Given the description of an element on the screen output the (x, y) to click on. 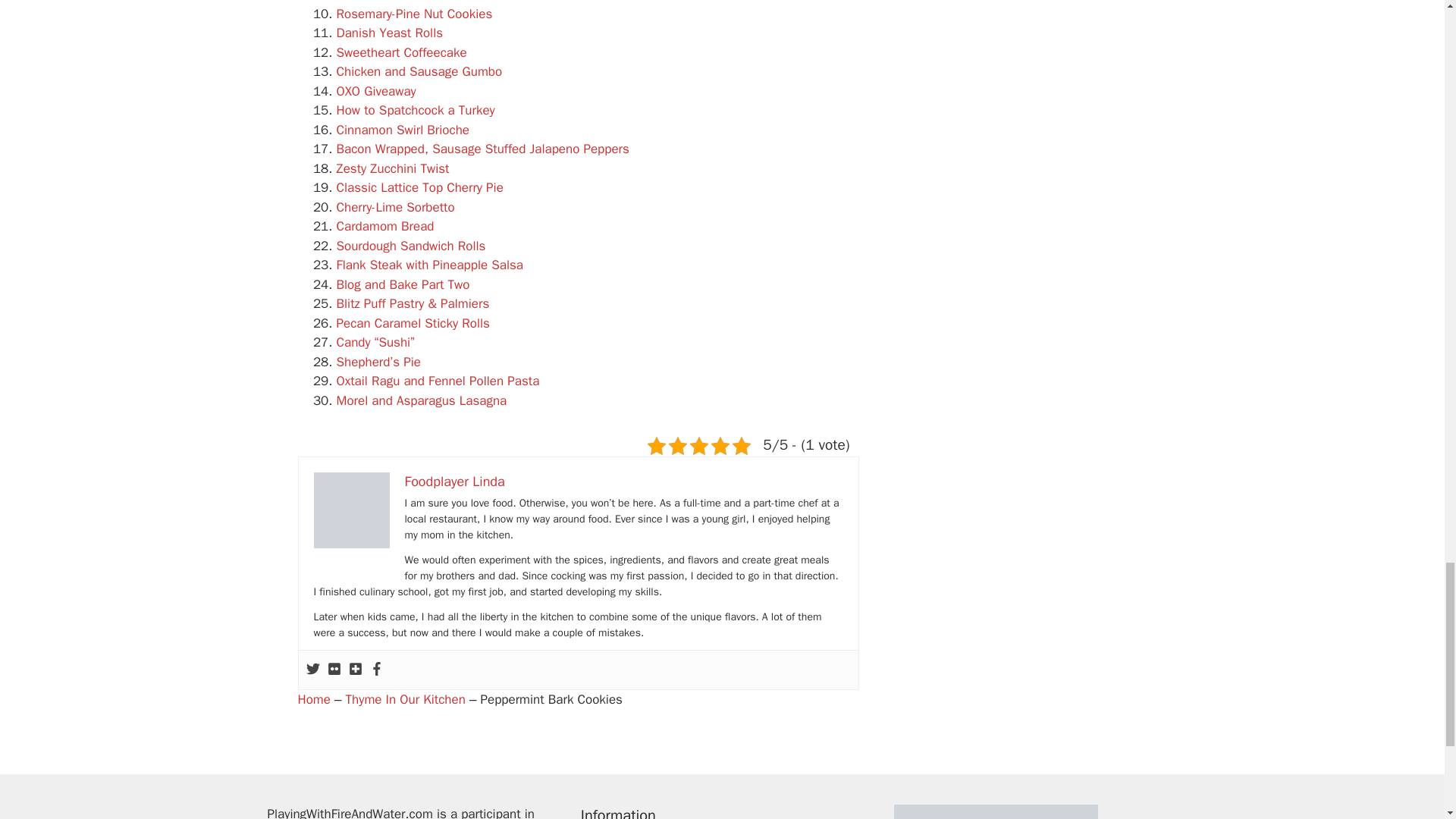
OXO Giveaway (376, 91)
Zesty Zucchini Twist (392, 168)
How to Spatchcock a Turkey (415, 109)
Classic Lattice Top Cherry Pie (419, 187)
Sweetheart Coffeecake (401, 52)
Chicken and Sausage Gumbo (419, 71)
Cinnamon Swirl Brioche (403, 130)
Danish Yeast Rolls (390, 32)
Bacon Wrapped, Sausage Stuffed Jalapeno Peppers (482, 148)
Cardamom Bread (384, 226)
Rosemary-Pine Nut Cookies (414, 13)
Cherry-Lime Sorbetto (395, 207)
